Given the description of an element on the screen output the (x, y) to click on. 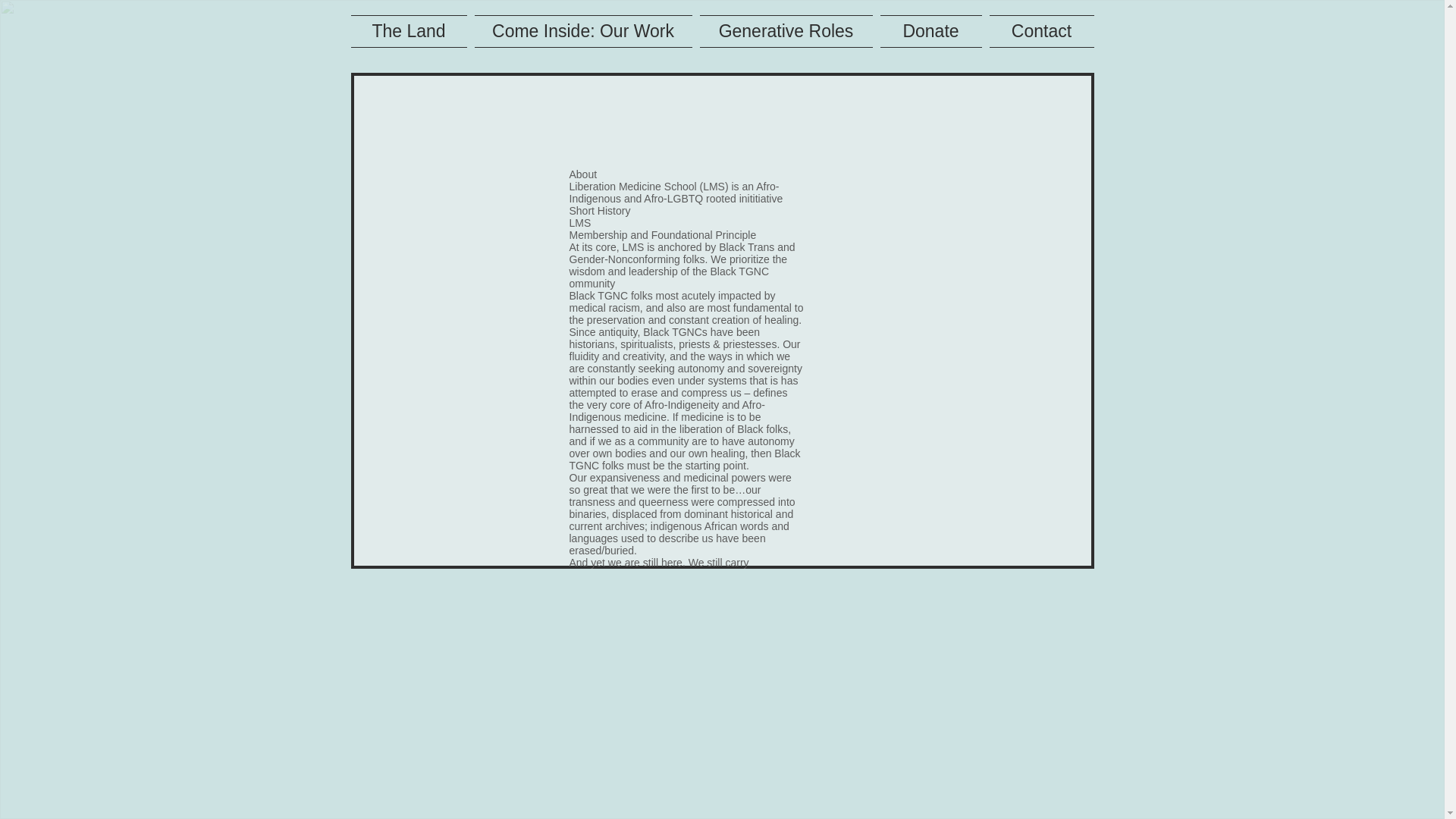
The Land (410, 31)
Donate (930, 31)
Generative Roles (785, 31)
Contact (1039, 31)
